Given the description of an element on the screen output the (x, y) to click on. 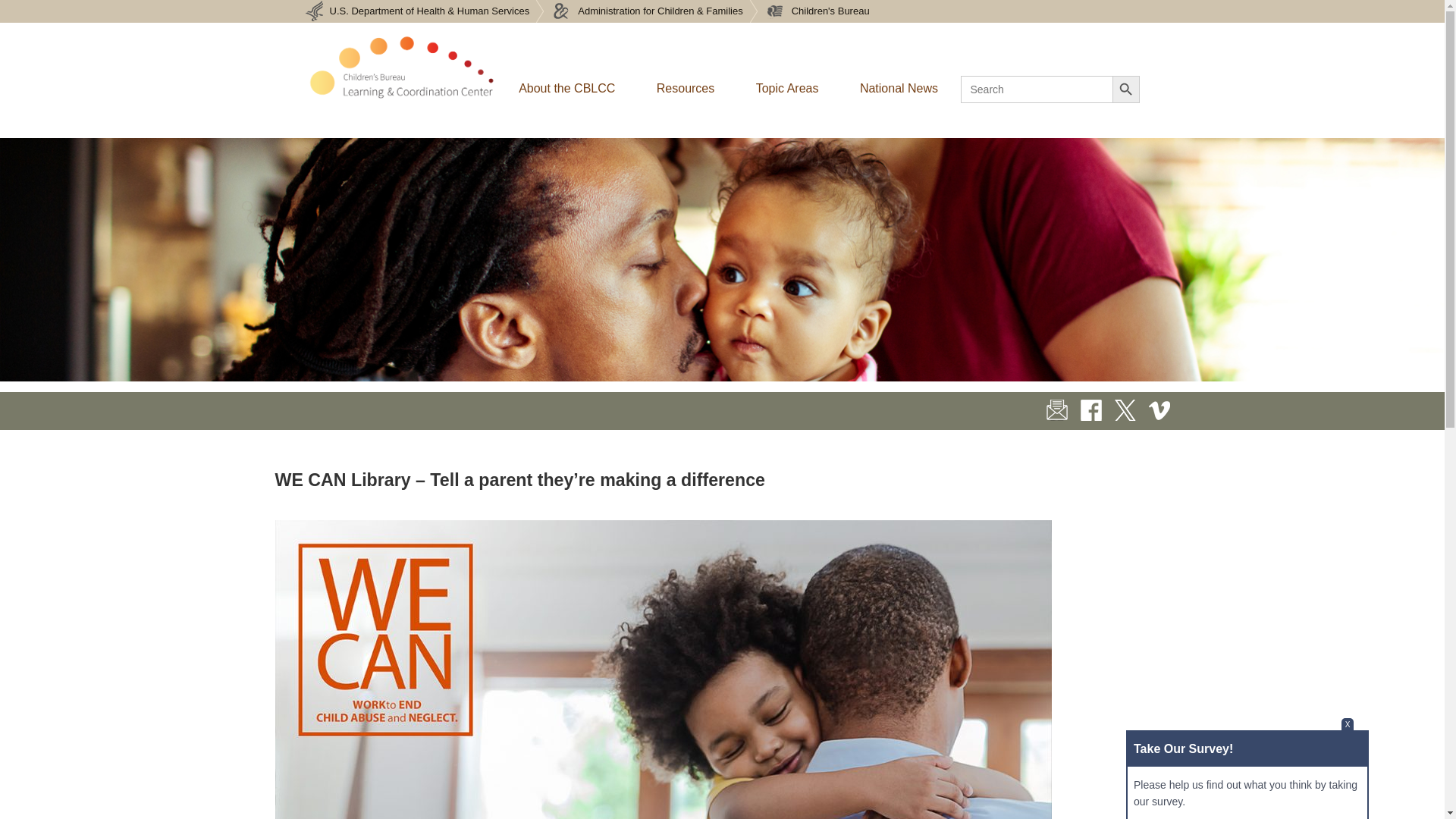
National News (898, 88)
CBLCC Twitter page (1125, 409)
Twitter (1125, 409)
CBLCC Facebook page (1091, 409)
Topic Areas (787, 88)
Children's Bureau (818, 11)
CBLCC Vimeo channel (1158, 409)
Vimeo (1158, 409)
About the CBLCC (566, 88)
Search Button (1125, 89)
